Given the description of an element on the screen output the (x, y) to click on. 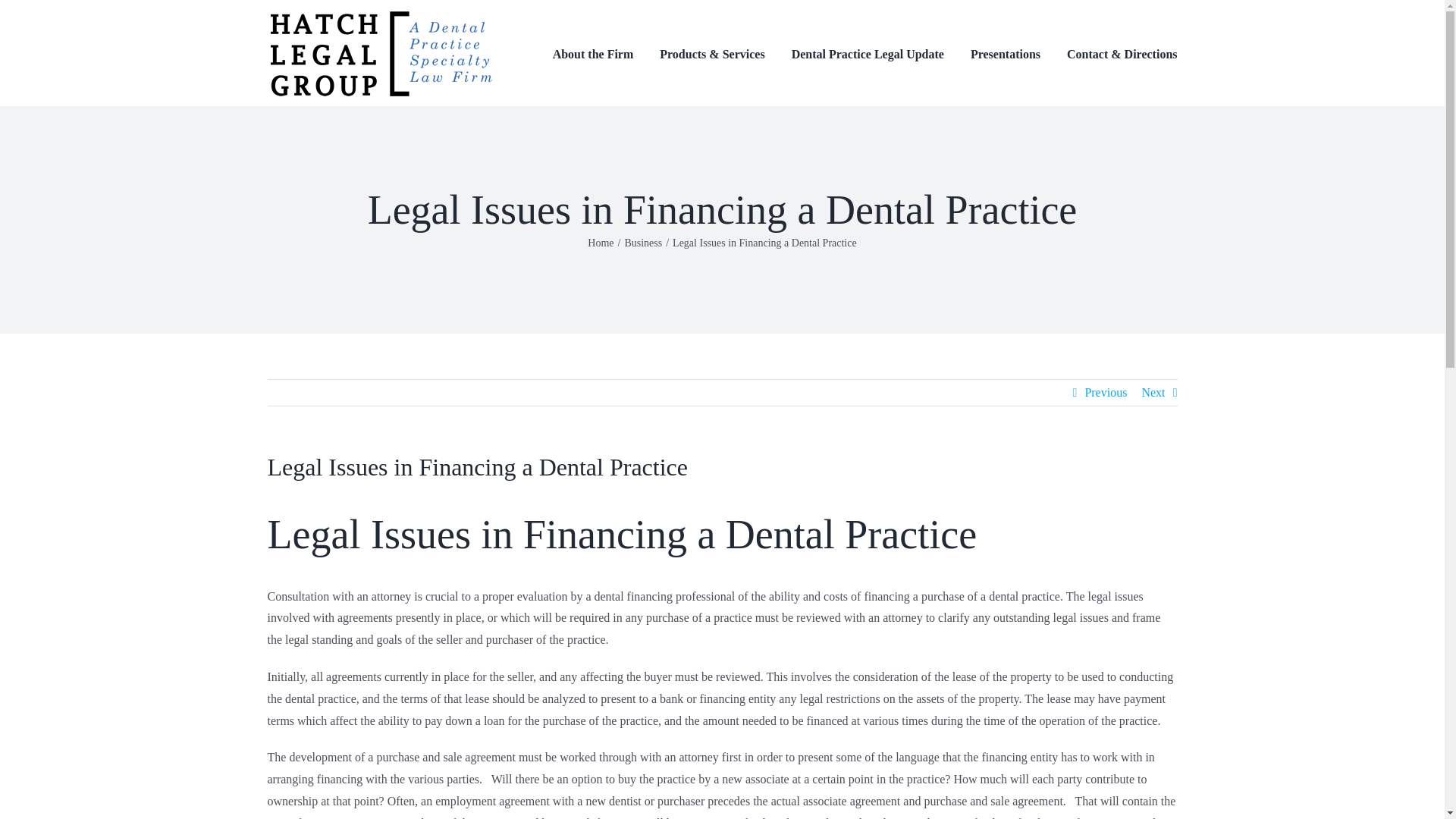
Business (643, 242)
Previous (1105, 392)
Home (600, 242)
Dental Practice Legal Update (867, 53)
Next (1152, 392)
